Given the description of an element on the screen output the (x, y) to click on. 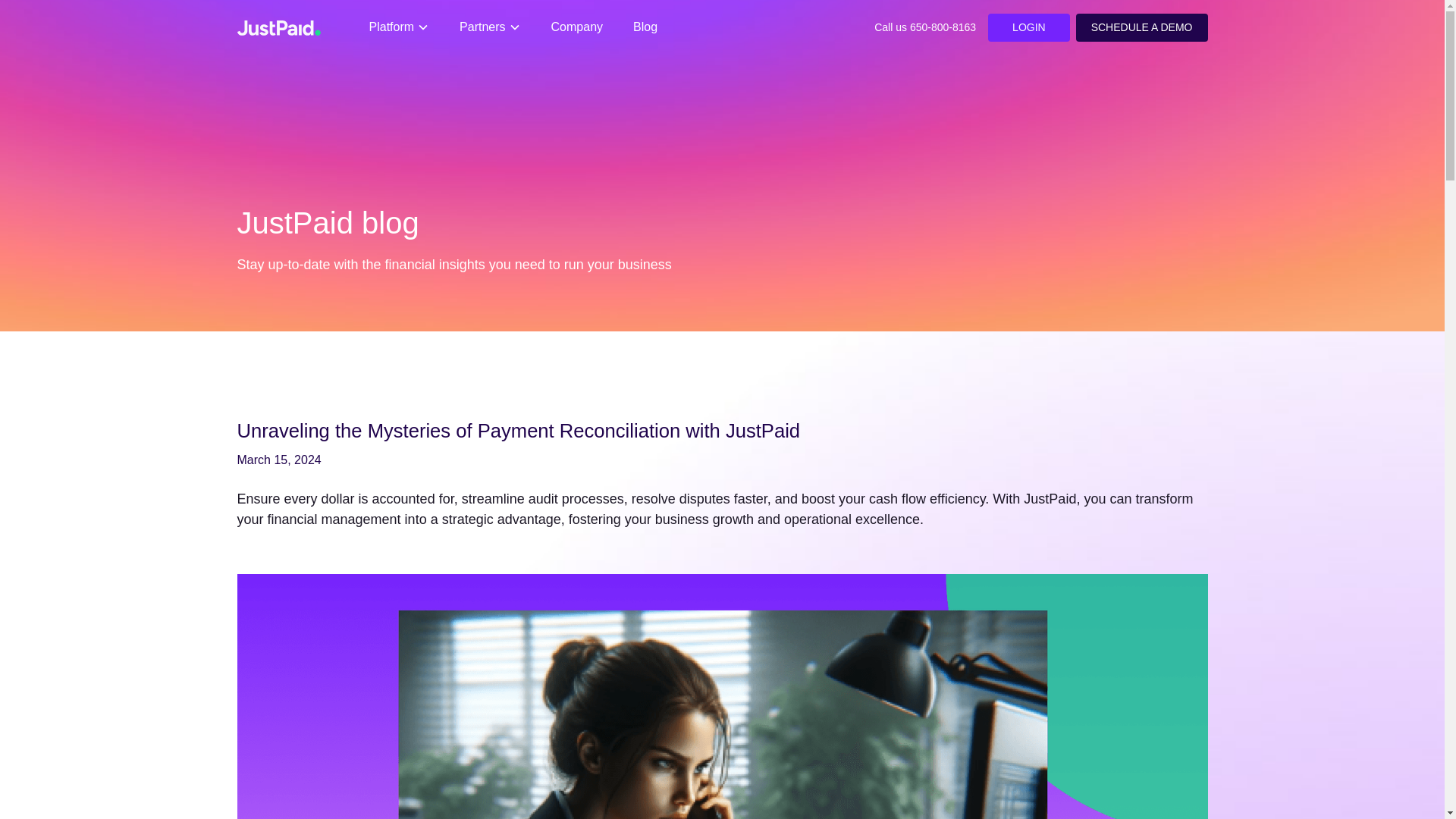
SCHEDULE A DEMO (1141, 27)
650-800-8163 (942, 27)
LOGIN (1029, 27)
Company (576, 27)
Blog (645, 27)
